Given the description of an element on the screen output the (x, y) to click on. 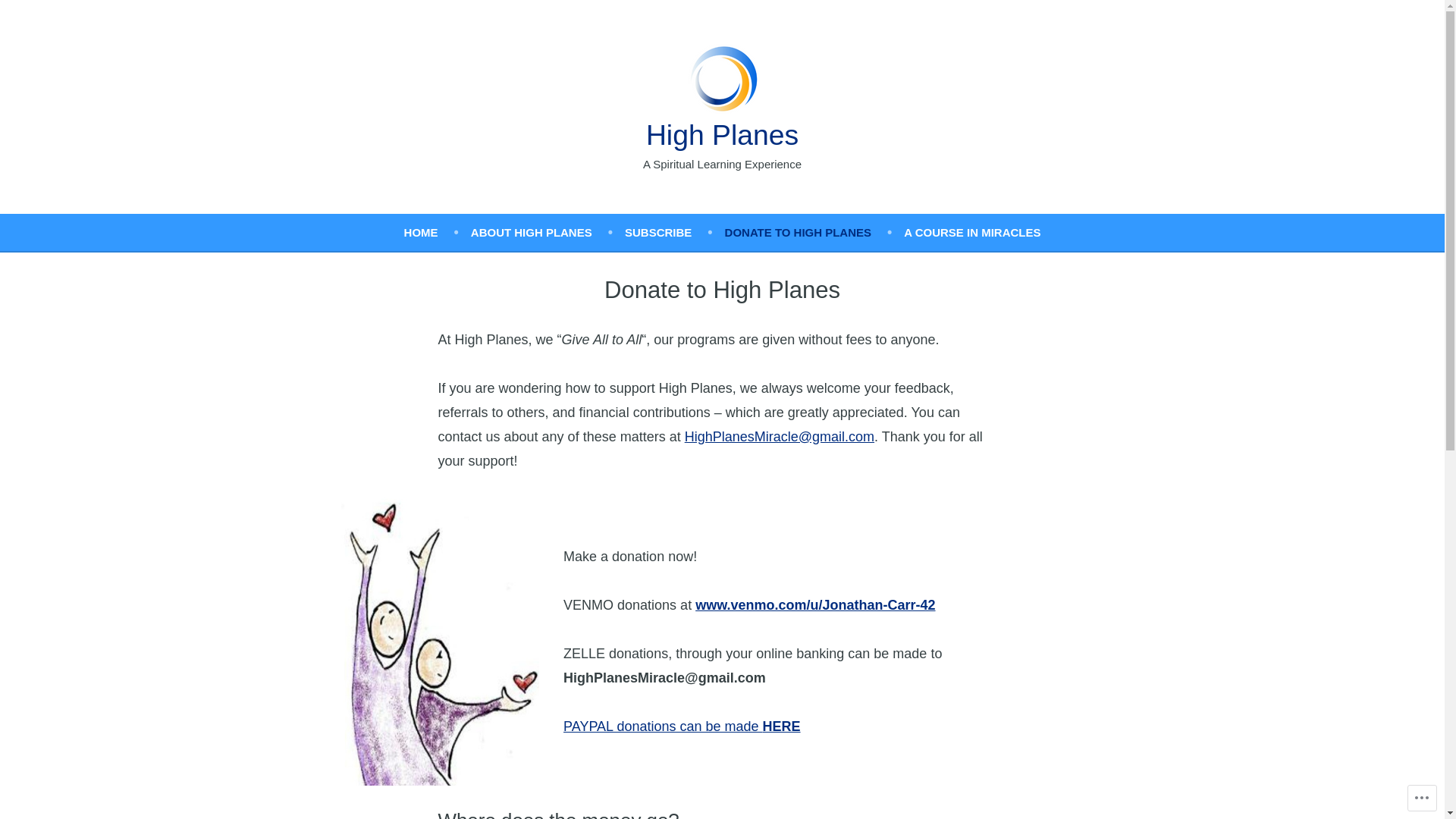
HOME Element type: text (437, 231)
SUBSCRIBE Element type: text (674, 231)
A COURSE IN MIRACLES Element type: text (971, 231)
HighPlanesMiracle@gmail.com Element type: text (779, 436)
PAYPAL donations can be made HERE Element type: text (681, 726)
ABOUT HIGH PLANES Element type: text (547, 231)
www.venmo.com/u/Jonathan-Carr-42 Element type: text (815, 604)
High Planes Element type: text (722, 134)
DONATE TO HIGH PLANES Element type: text (814, 231)
